Given the description of an element on the screen output the (x, y) to click on. 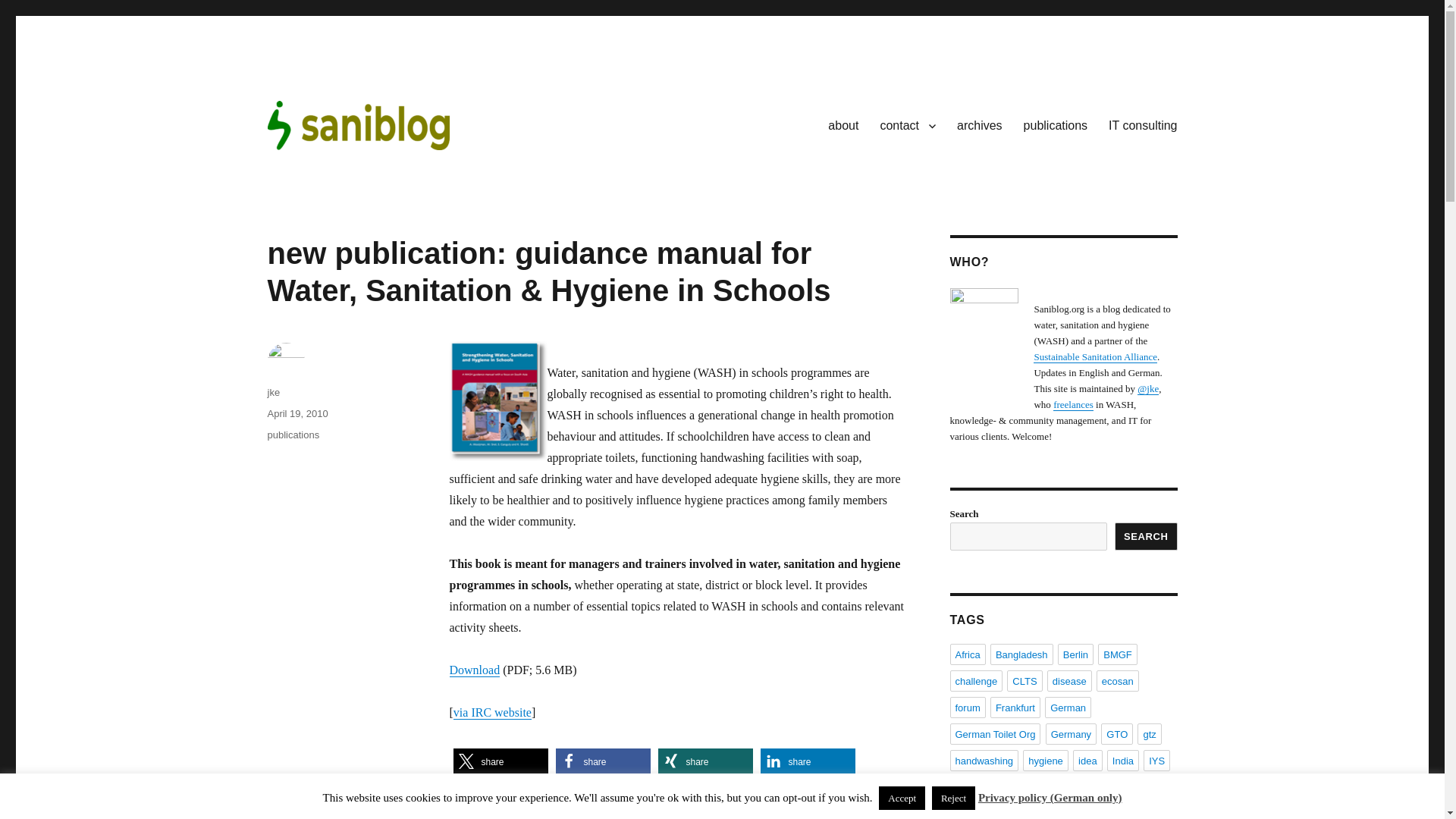
archives (979, 124)
Africa (967, 654)
publications (1056, 124)
Share on LinkedIn (807, 761)
share  (500, 761)
Share on Facebook (601, 761)
share  (601, 761)
Berlin (1075, 654)
Send by email (500, 795)
Sustainable Sanitation Alliance (1094, 356)
